Given the description of an element on the screen output the (x, y) to click on. 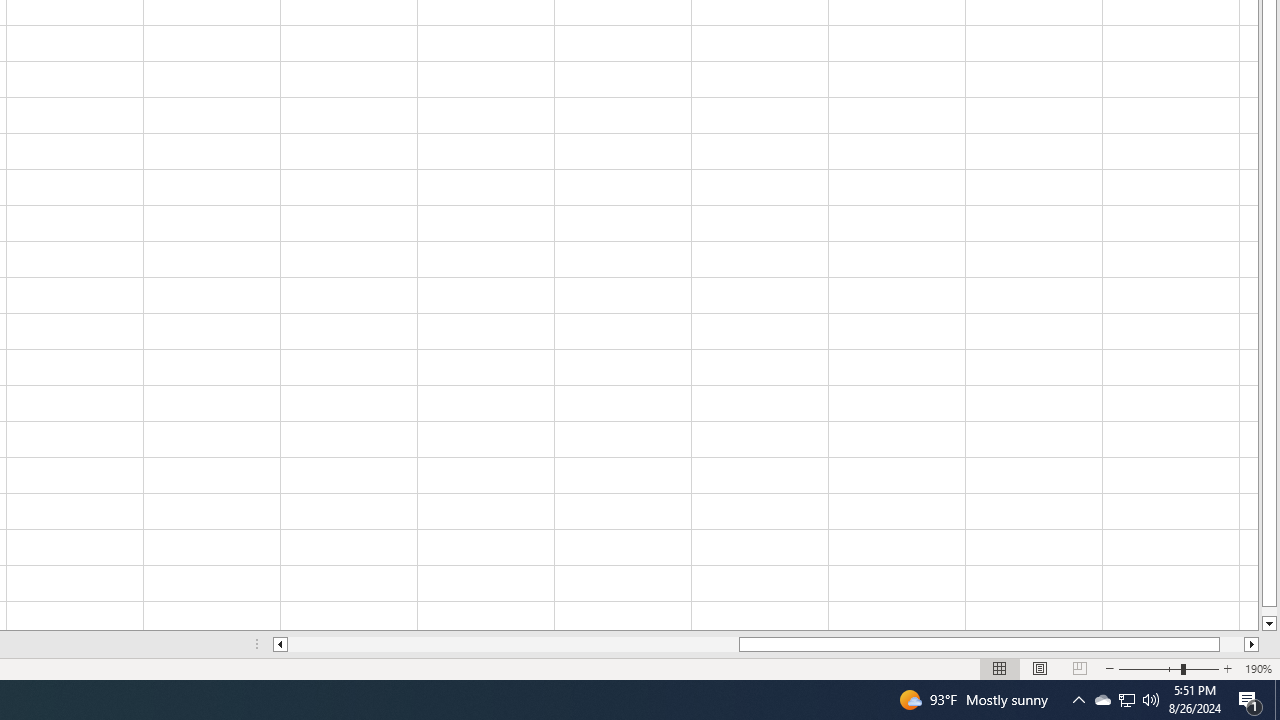
Page left (513, 644)
